Given the description of an element on the screen output the (x, y) to click on. 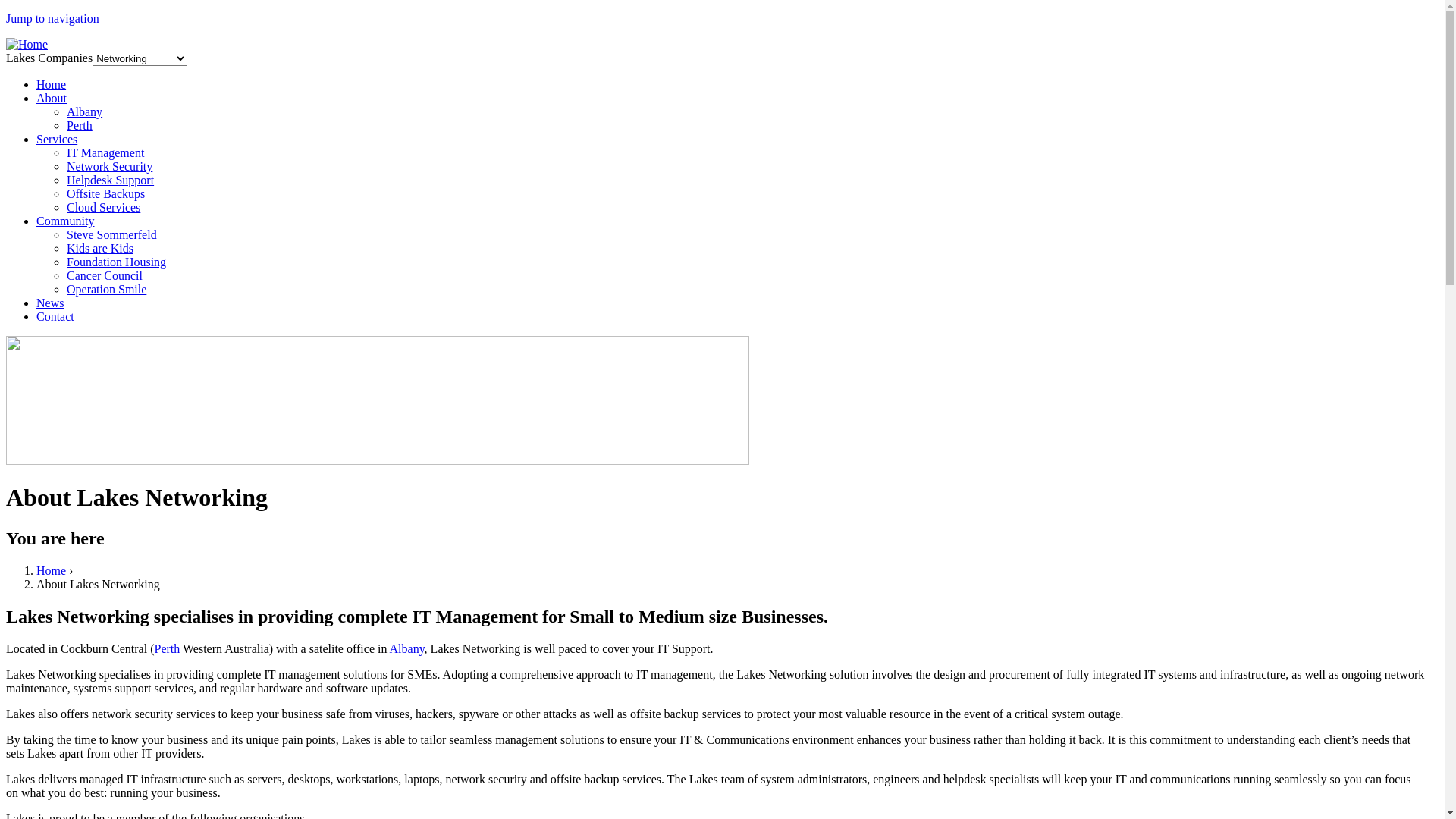
Cancer Council Element type: text (104, 275)
Albany Element type: text (84, 111)
Perth Element type: text (79, 125)
Home Element type: hover (26, 43)
Cloud Services Element type: text (103, 206)
Jump to navigation Element type: text (52, 18)
Community Element type: text (65, 220)
Kids are Kids Element type: text (99, 247)
Home Element type: text (50, 84)
Offsite Backups Element type: text (105, 193)
About Element type: text (51, 97)
IT Management Element type: text (105, 152)
Steve Sommerfeld Element type: text (111, 234)
Network Security Element type: text (109, 166)
Services Element type: text (56, 138)
Home Element type: text (50, 570)
Helpdesk Support Element type: text (109, 179)
Operation Smile Element type: text (106, 288)
Albany Element type: text (406, 648)
Contact Element type: text (55, 316)
News Element type: text (49, 302)
Perth Element type: text (167, 648)
Foundation Housing Element type: text (116, 261)
